Given the description of an element on the screen output the (x, y) to click on. 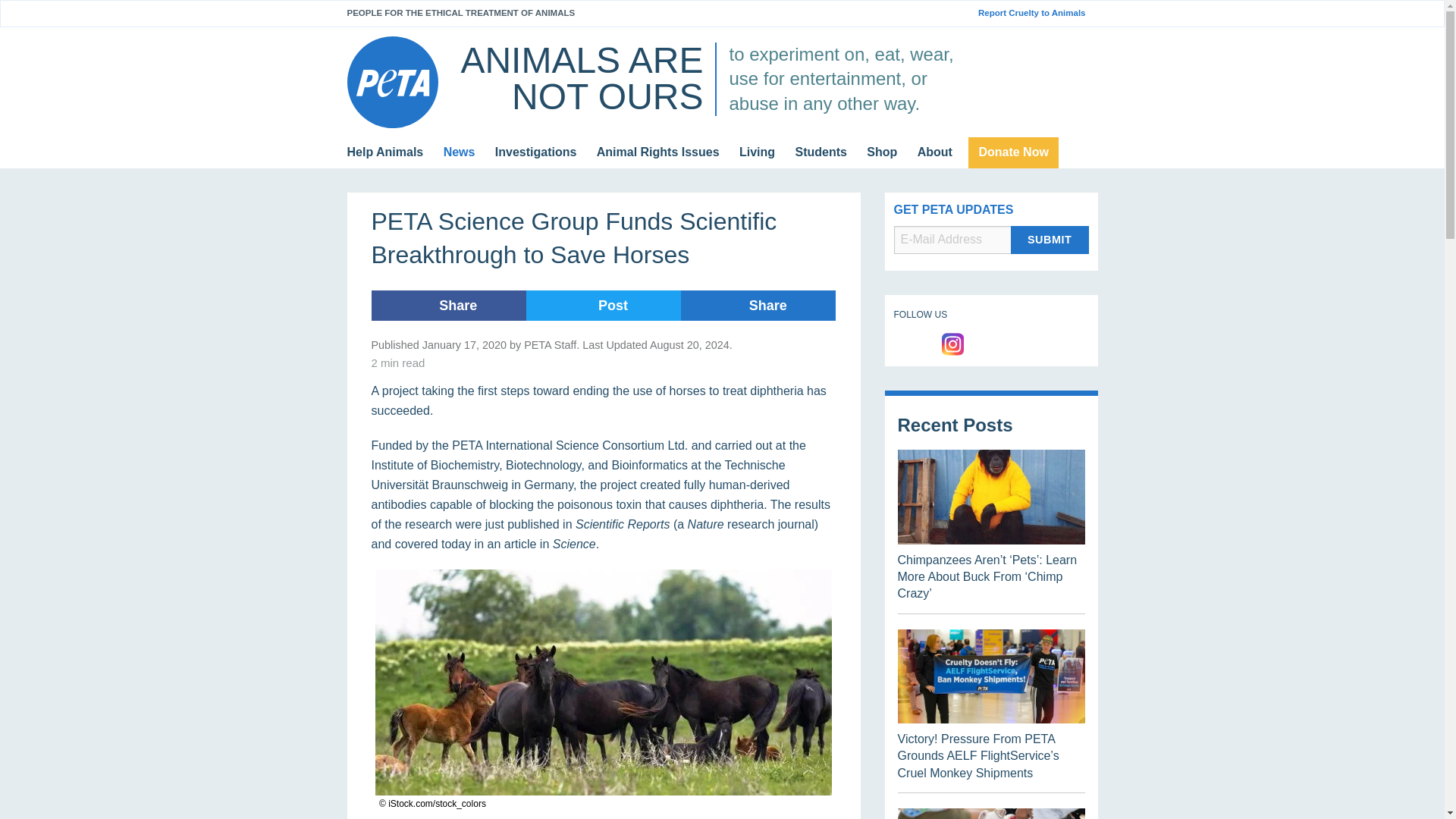
Submit (1049, 239)
Report Cruelty to Animals (1037, 13)
ANIMALS ARE NOT OURS (581, 78)
PEOPLE FOR THE ETHICAL TREATMENT OF ANIMALS (461, 13)
